Given the description of an element on the screen output the (x, y) to click on. 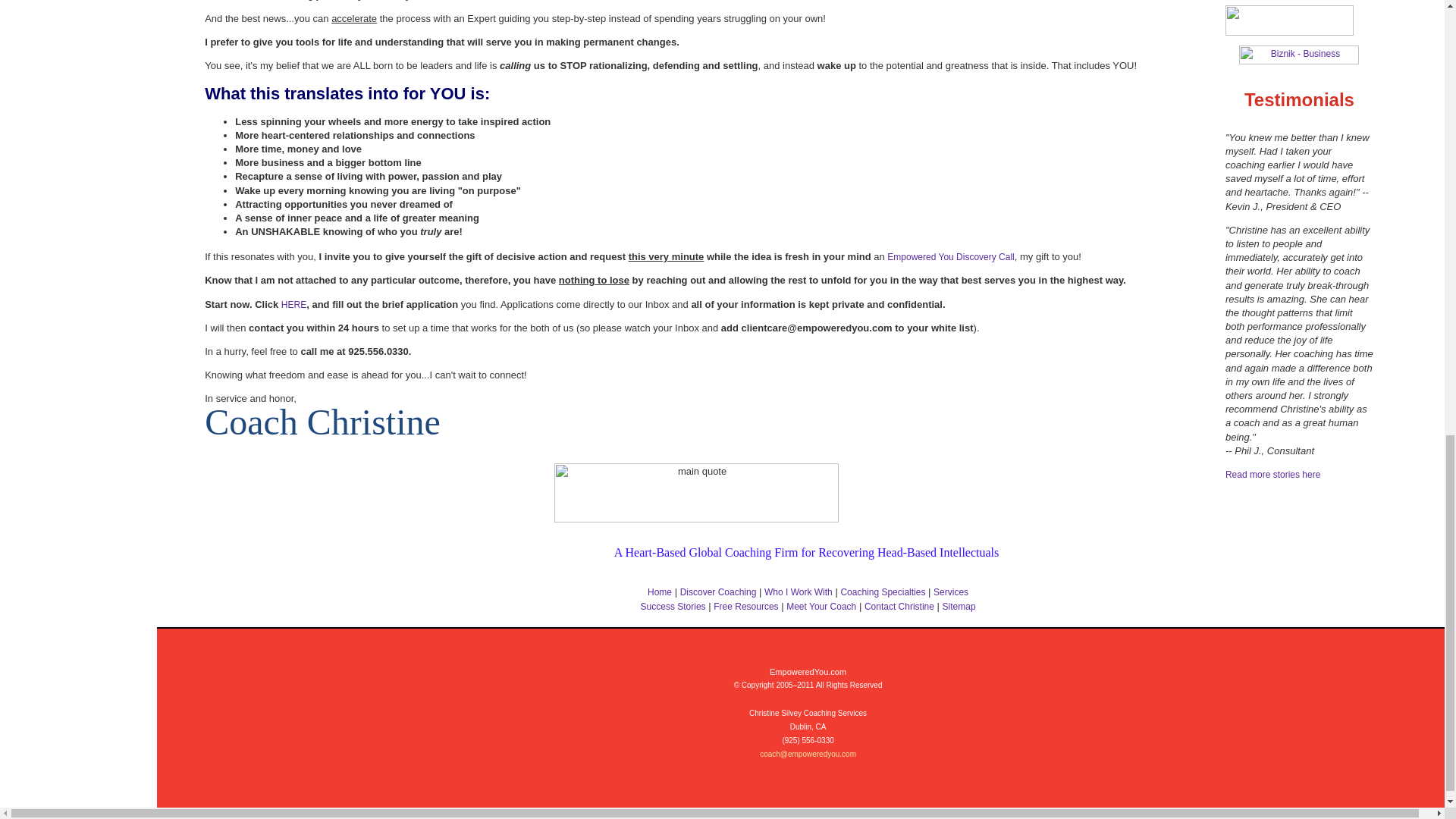
Contact Christine (899, 606)
HERE (293, 304)
Empowered You Discovery Call (949, 256)
Who I Work With (798, 592)
Coaching Specialties (882, 592)
Sitemap (958, 606)
Services (950, 592)
Free Resources (745, 606)
Read more stories here (1272, 474)
Discover Coaching (718, 592)
Success Stories (1272, 474)
Success Stories (673, 606)
Contact Christine (293, 304)
Home (659, 592)
Meet Your Coach (821, 606)
